Given the description of an element on the screen output the (x, y) to click on. 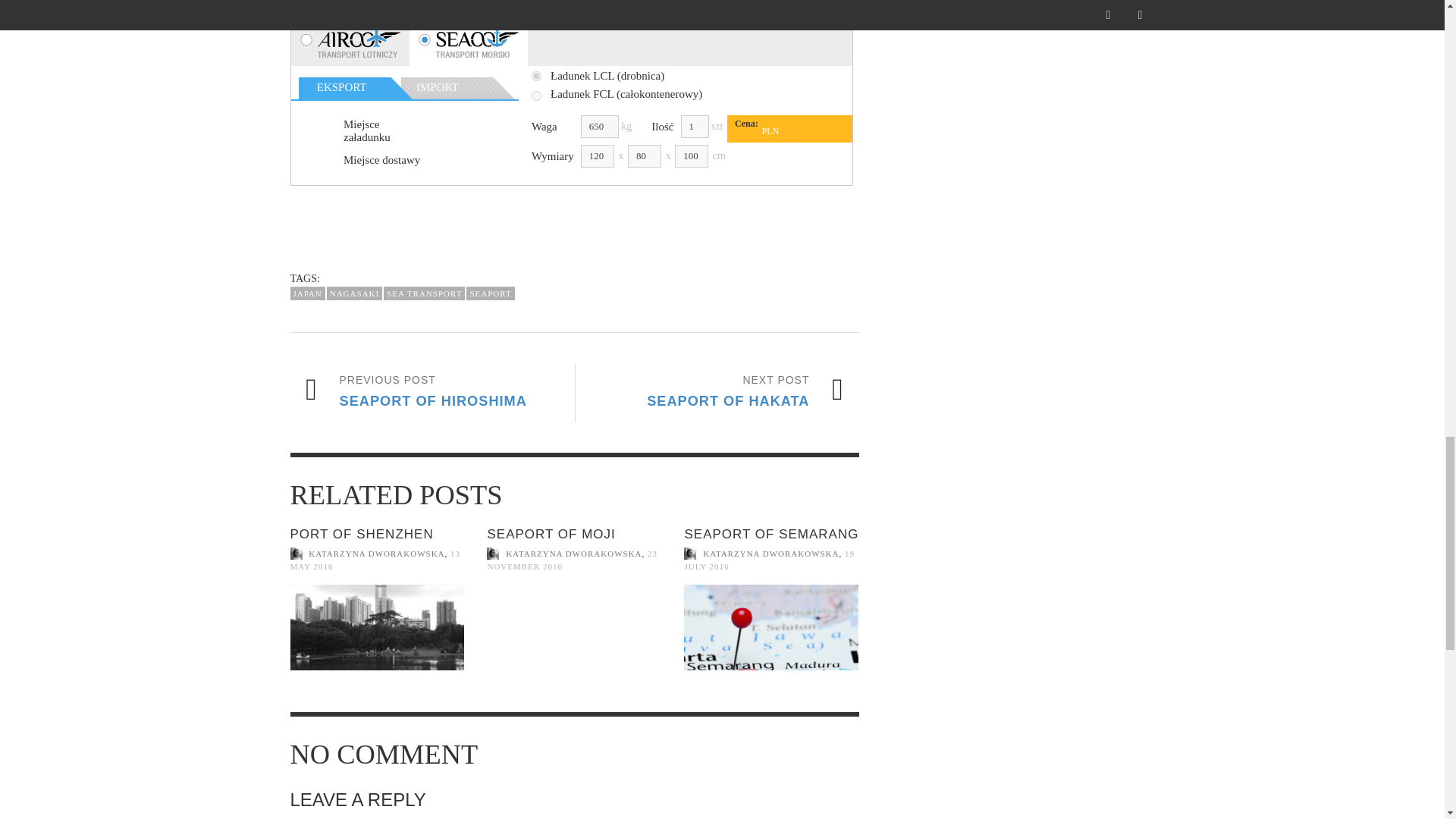
JAPAN (717, 392)
13 MAY 2016 (306, 293)
View all posts in sea transport (431, 392)
Permalink to Port of Shenzhen (374, 559)
View all posts in seaport (424, 293)
View all posts in japan (360, 534)
SEA TRANSPORT (489, 293)
NAGASAKI (306, 293)
